Given the description of an element on the screen output the (x, y) to click on. 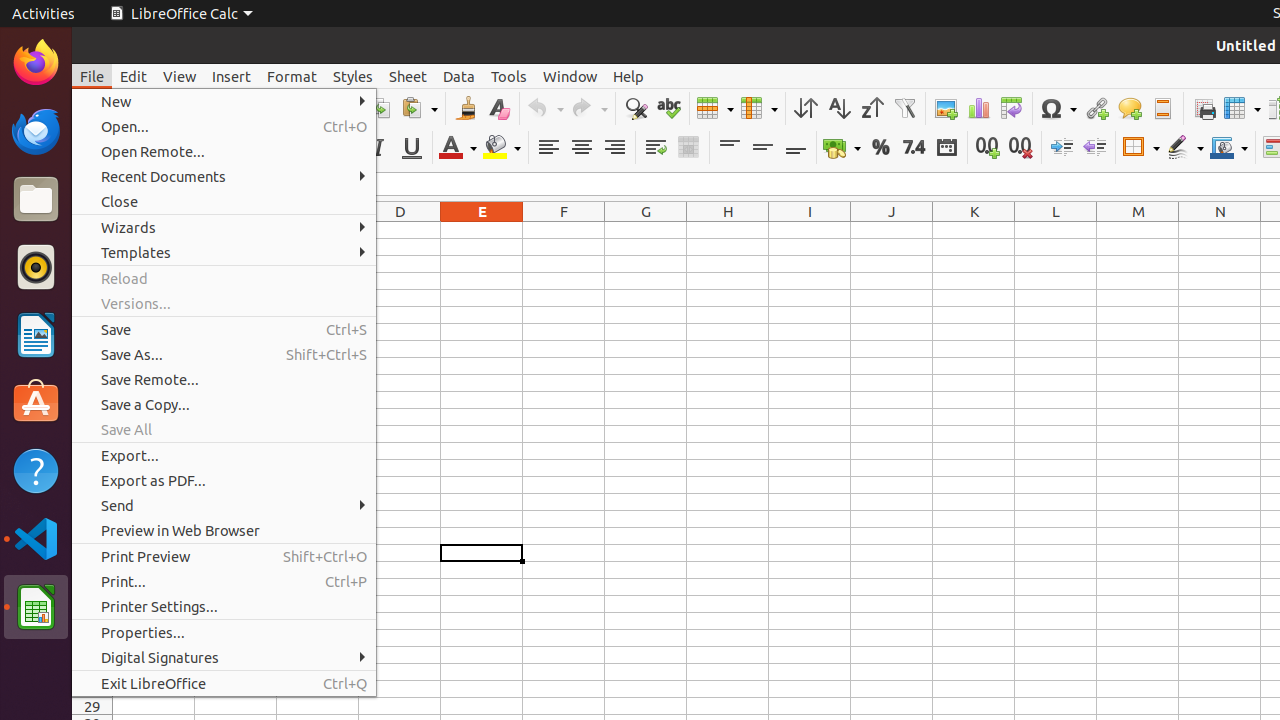
Paste Element type: push-button (419, 108)
Recent Documents Element type: menu (224, 176)
Borders (Shift to overwrite) Element type: push-button (1141, 147)
Save Remote... Element type: menu-item (224, 379)
Data Element type: menu (459, 76)
